Given the description of an element on the screen output the (x, y) to click on. 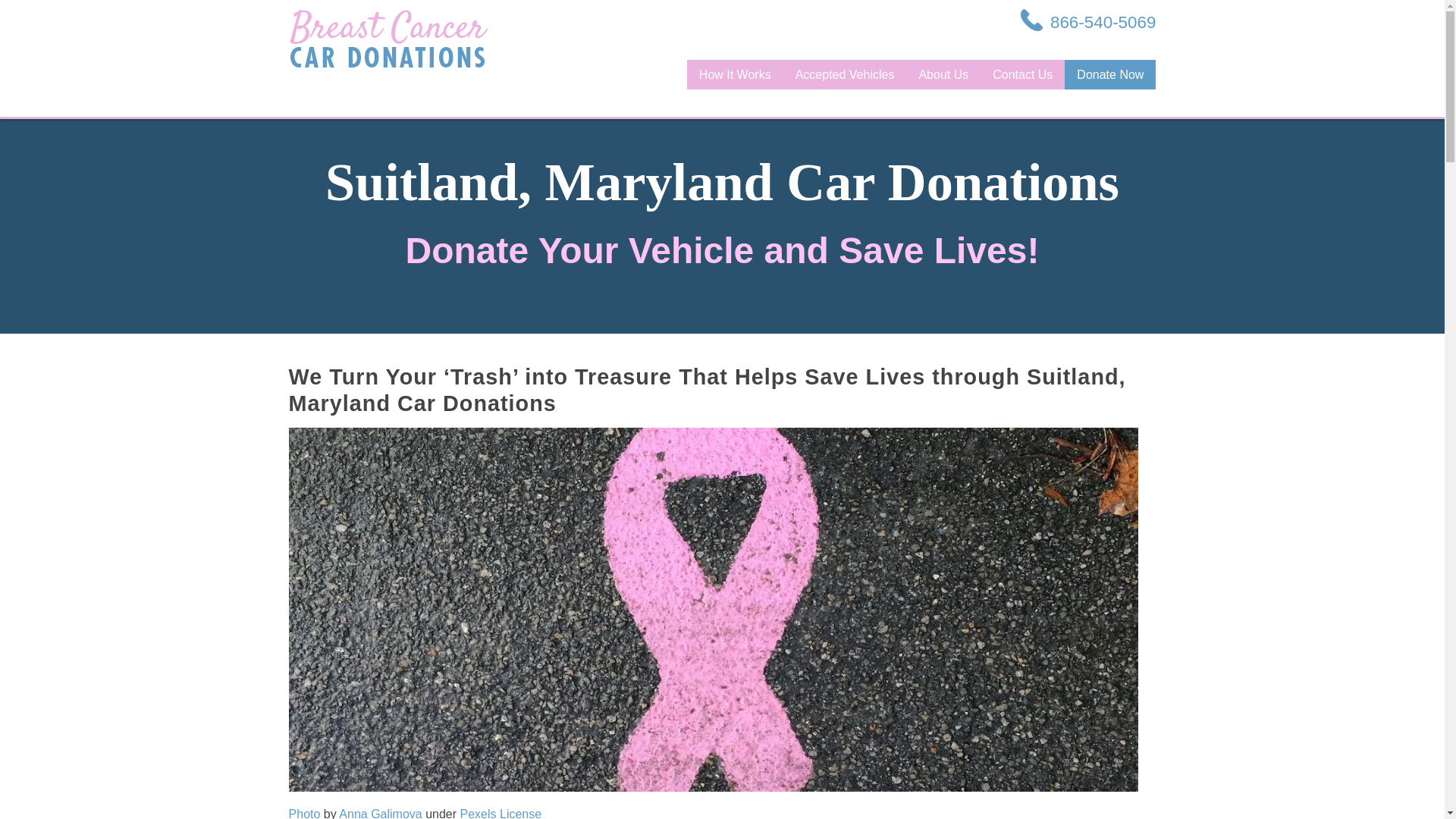
Donate Now (1110, 74)
Anna Galimova (380, 813)
866-540-5069 (1088, 22)
Breast Cancer Car Donations (388, 38)
Photo (304, 813)
Accepted Vehicles (845, 74)
Contact Us (1021, 74)
About Us (942, 74)
Pexels License (500, 813)
How It Works (735, 74)
